Given the description of an element on the screen output the (x, y) to click on. 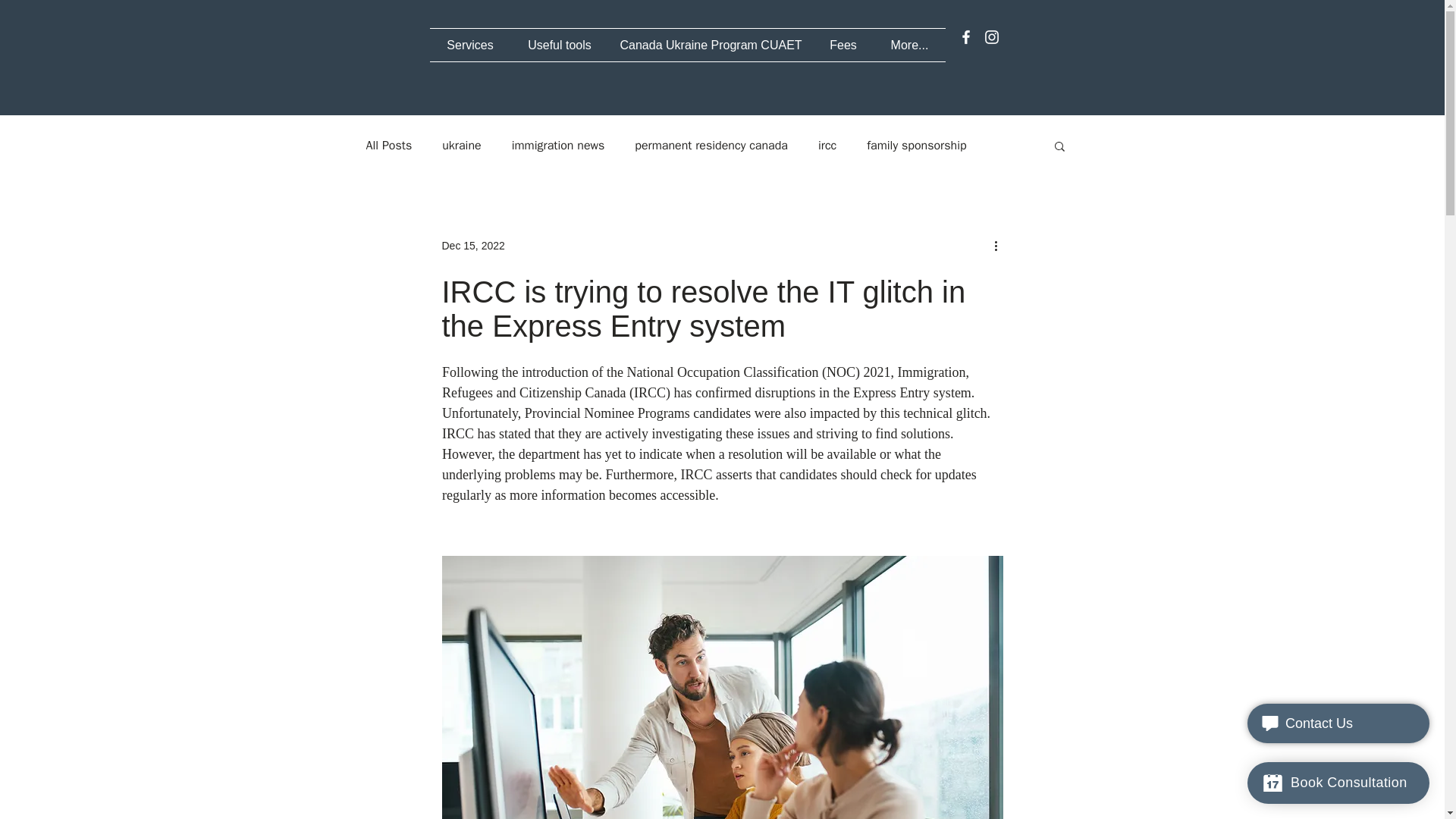
Fees (843, 44)
ukraine (461, 145)
Dec 15, 2022 (472, 245)
permanent residency canada (710, 145)
ircc (826, 145)
Canada Ukraine Program CUAET (710, 44)
Useful tools (559, 44)
Services (470, 44)
immigration news (558, 145)
All Posts (388, 145)
family sponsorship (916, 145)
